Given the description of an element on the screen output the (x, y) to click on. 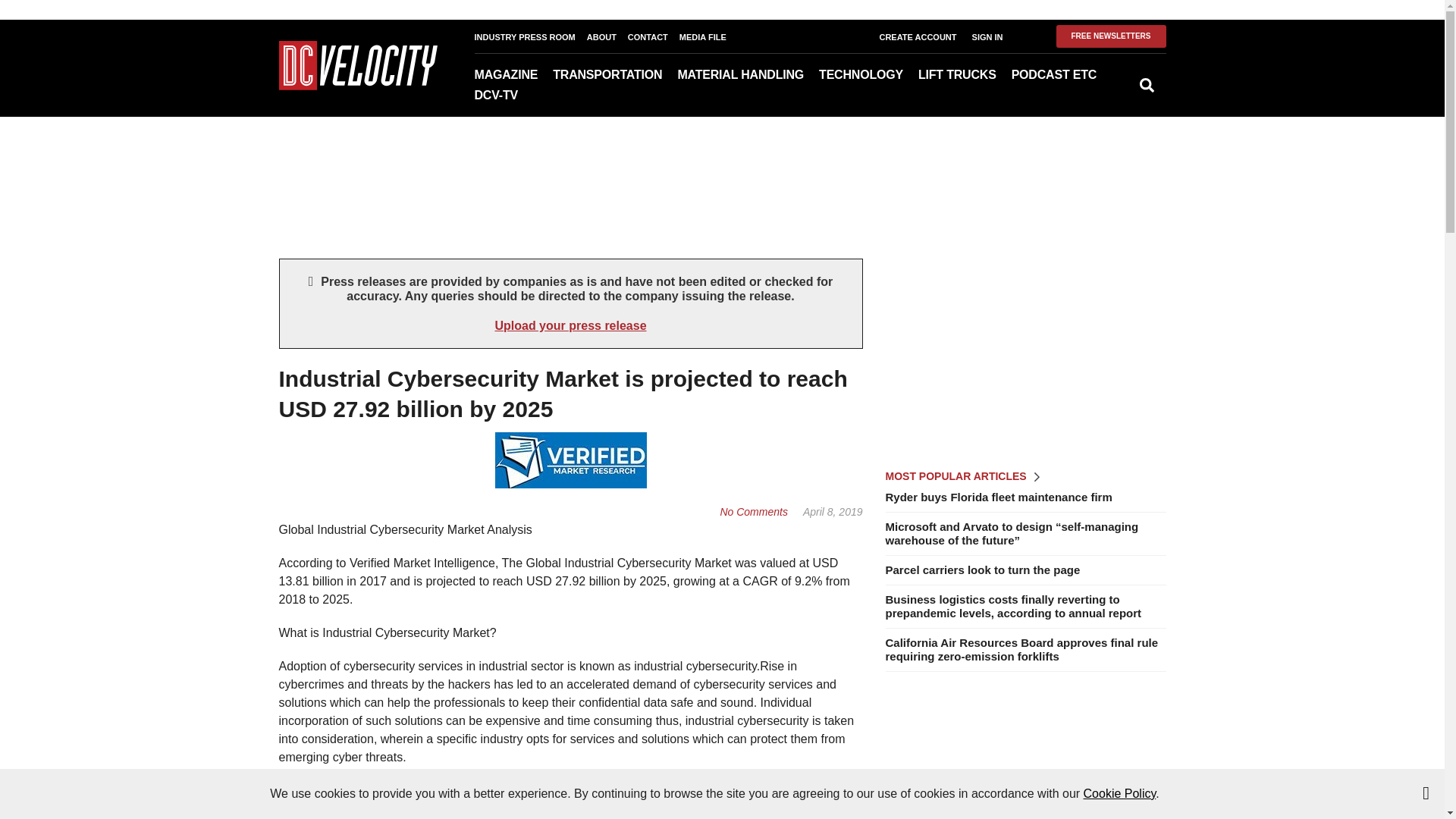
3rd party ad content (1024, 352)
3rd party ad content (1024, 756)
3rd party ad content (721, 165)
